Given the description of an element on the screen output the (x, y) to click on. 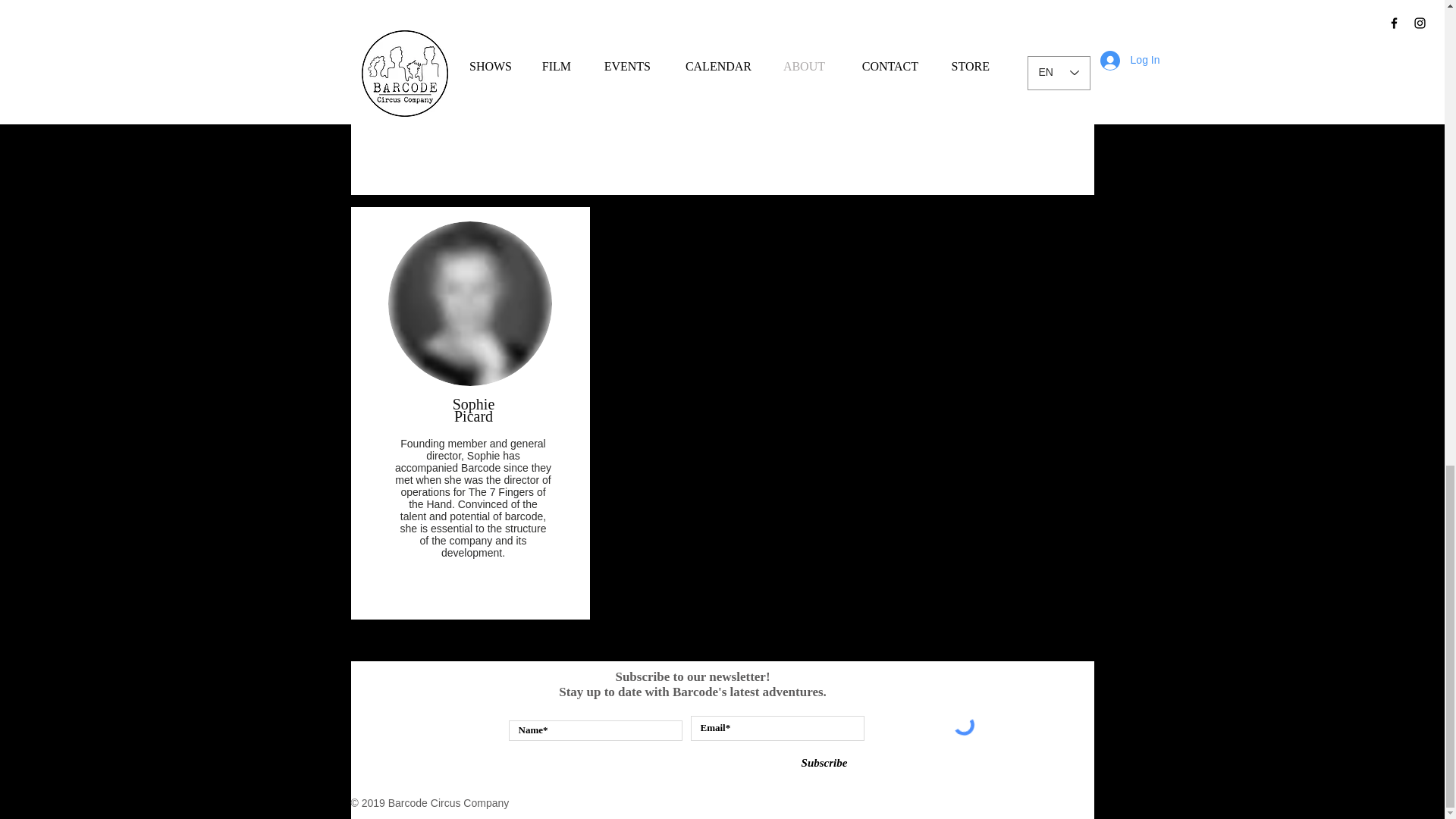
Beautiful Problems (459, 9)
. (468, 13)
Subscribe (823, 763)
